Given the description of an element on the screen output the (x, y) to click on. 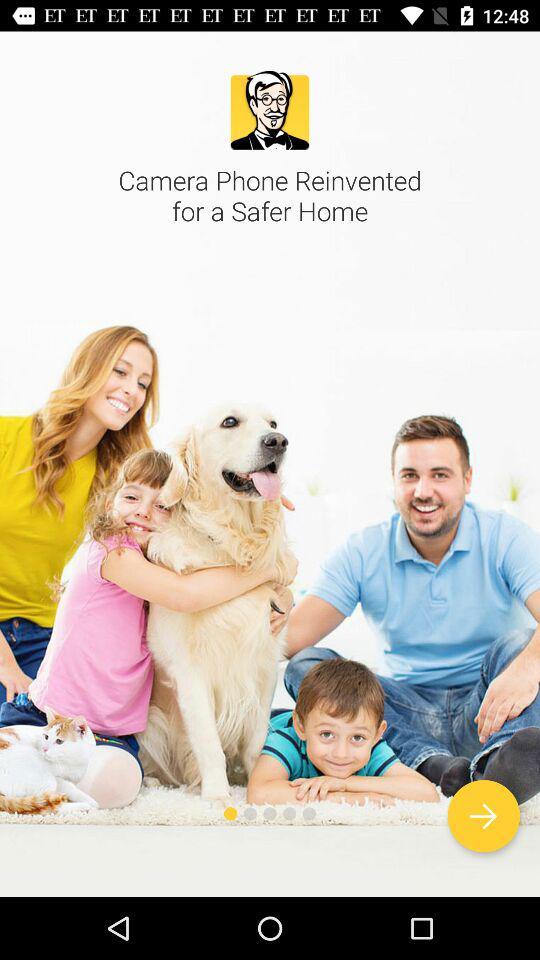
next page (483, 816)
